Given the description of an element on the screen output the (x, y) to click on. 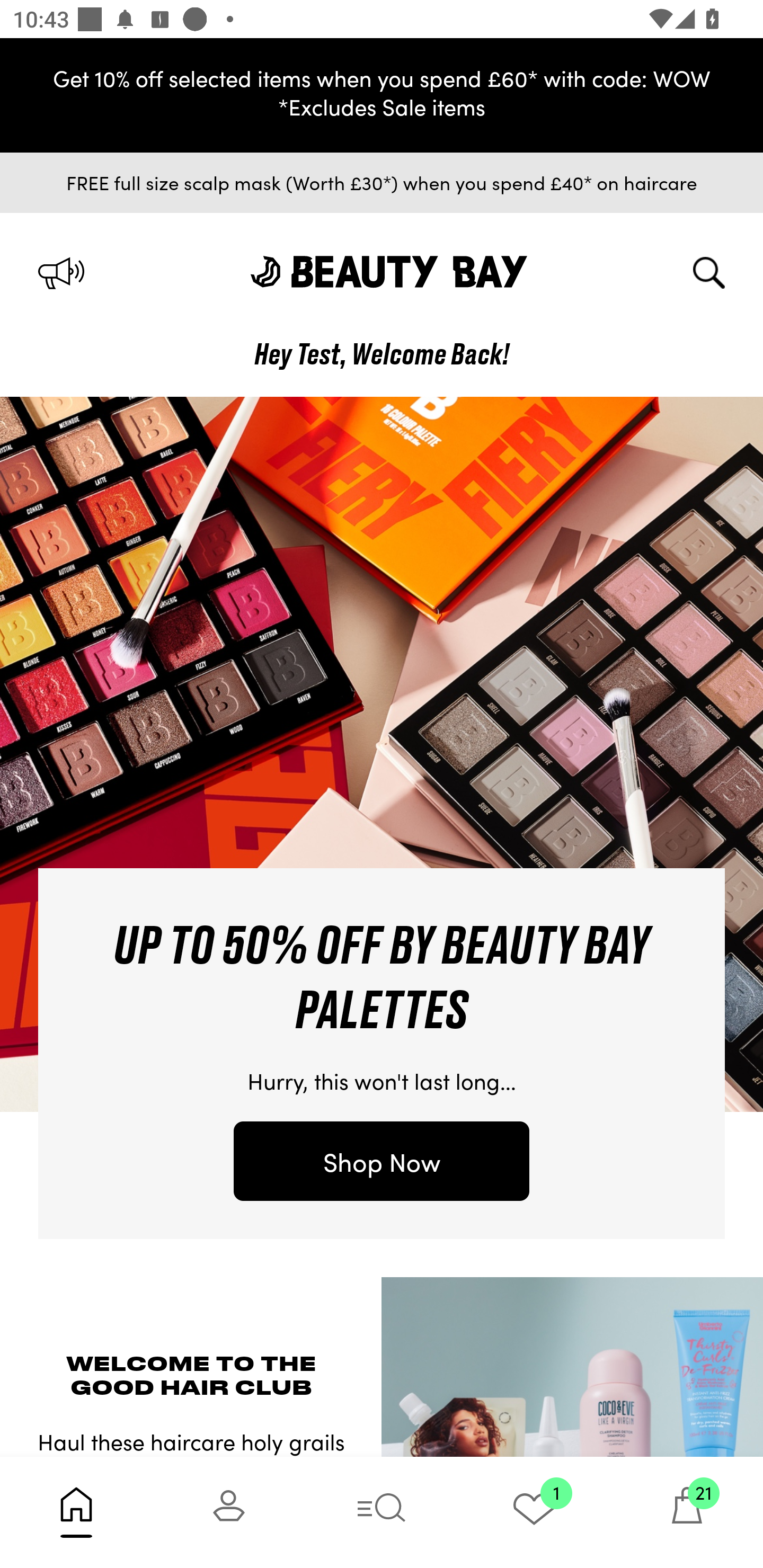
1 (533, 1512)
21 (686, 1512)
